Given the description of an element on the screen output the (x, y) to click on. 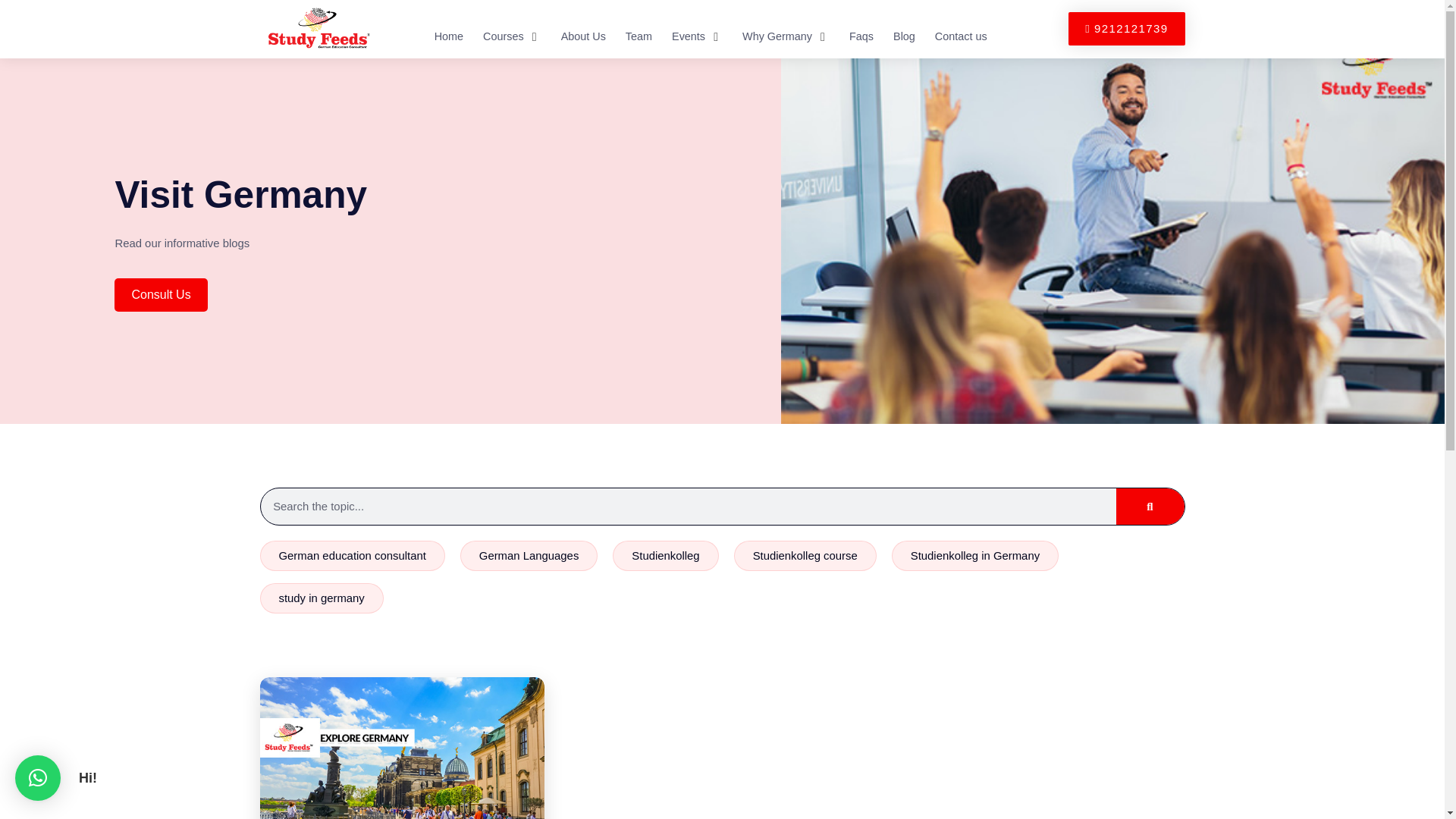
Courses (503, 36)
Home (448, 36)
